Given the description of an element on the screen output the (x, y) to click on. 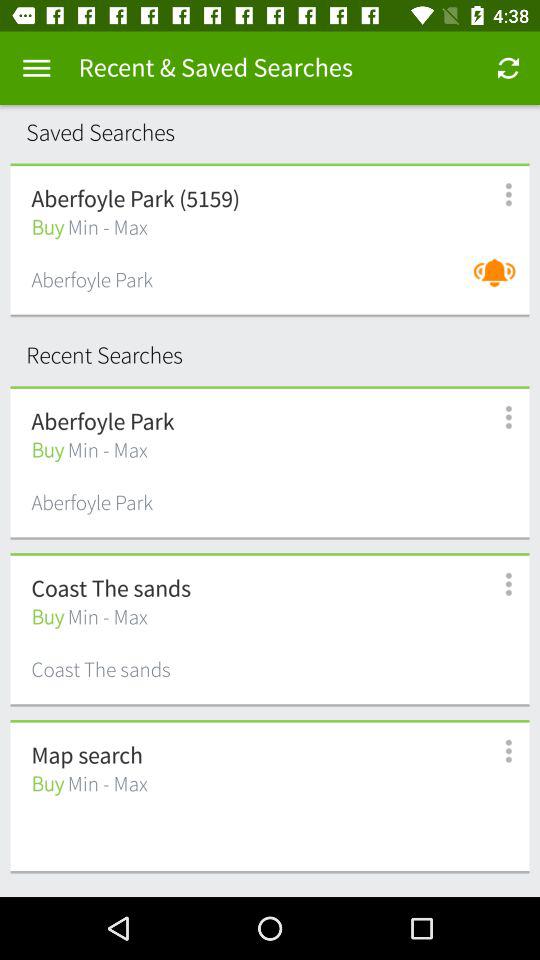
tap item next to recent & saved searches (36, 68)
